Given the description of an element on the screen output the (x, y) to click on. 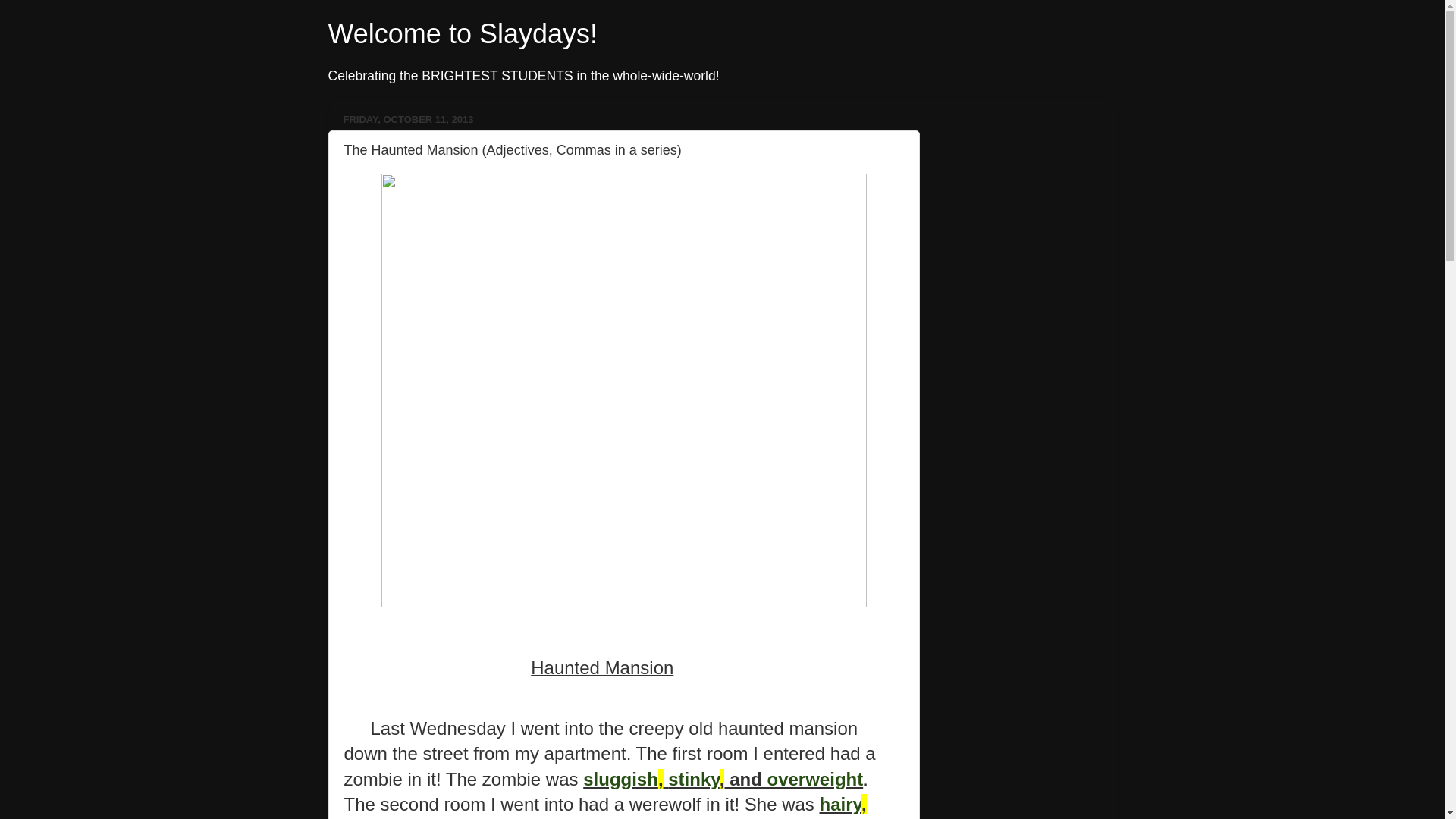
Welcome to Slaydays! (461, 33)
